Given the description of an element on the screen output the (x, y) to click on. 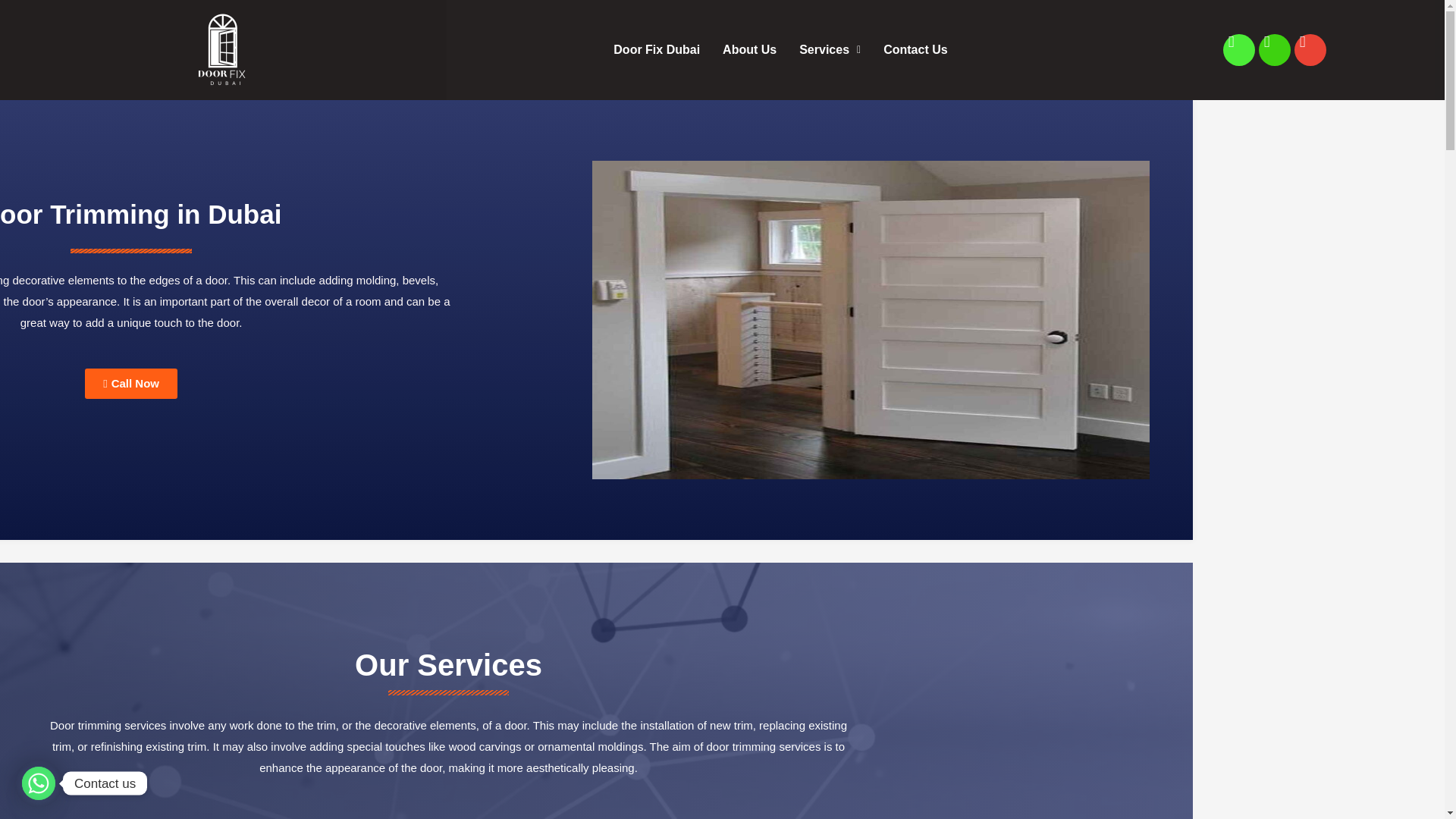
Whatsapp (1239, 50)
Door Fix Dubai (656, 49)
doorfixdubai2 (222, 49)
Envelope (1310, 50)
Phone (1274, 50)
Call Now (130, 383)
Services (829, 49)
About Us (749, 49)
Contact Us (915, 49)
